Given the description of an element on the screen output the (x, y) to click on. 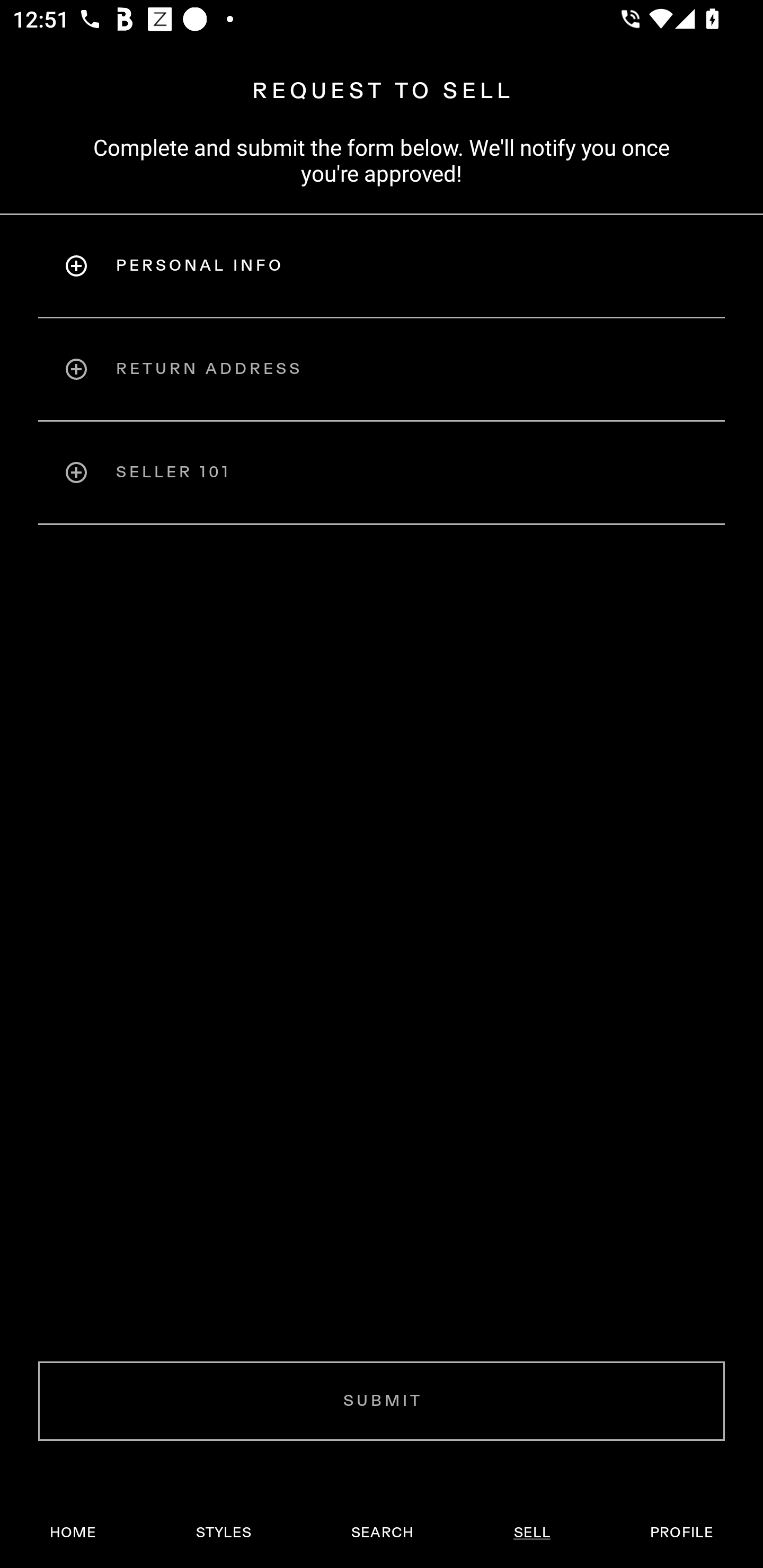
PERSONAL INFO (381, 265)
RETURN ADDRESS (381, 369)
SELLER 101 (381, 472)
SUBMIT (381, 1400)
HOME (72, 1532)
STYLES (222, 1532)
SEARCH (381, 1532)
SELL (531, 1532)
PROFILE (681, 1532)
